Given the description of an element on the screen output the (x, y) to click on. 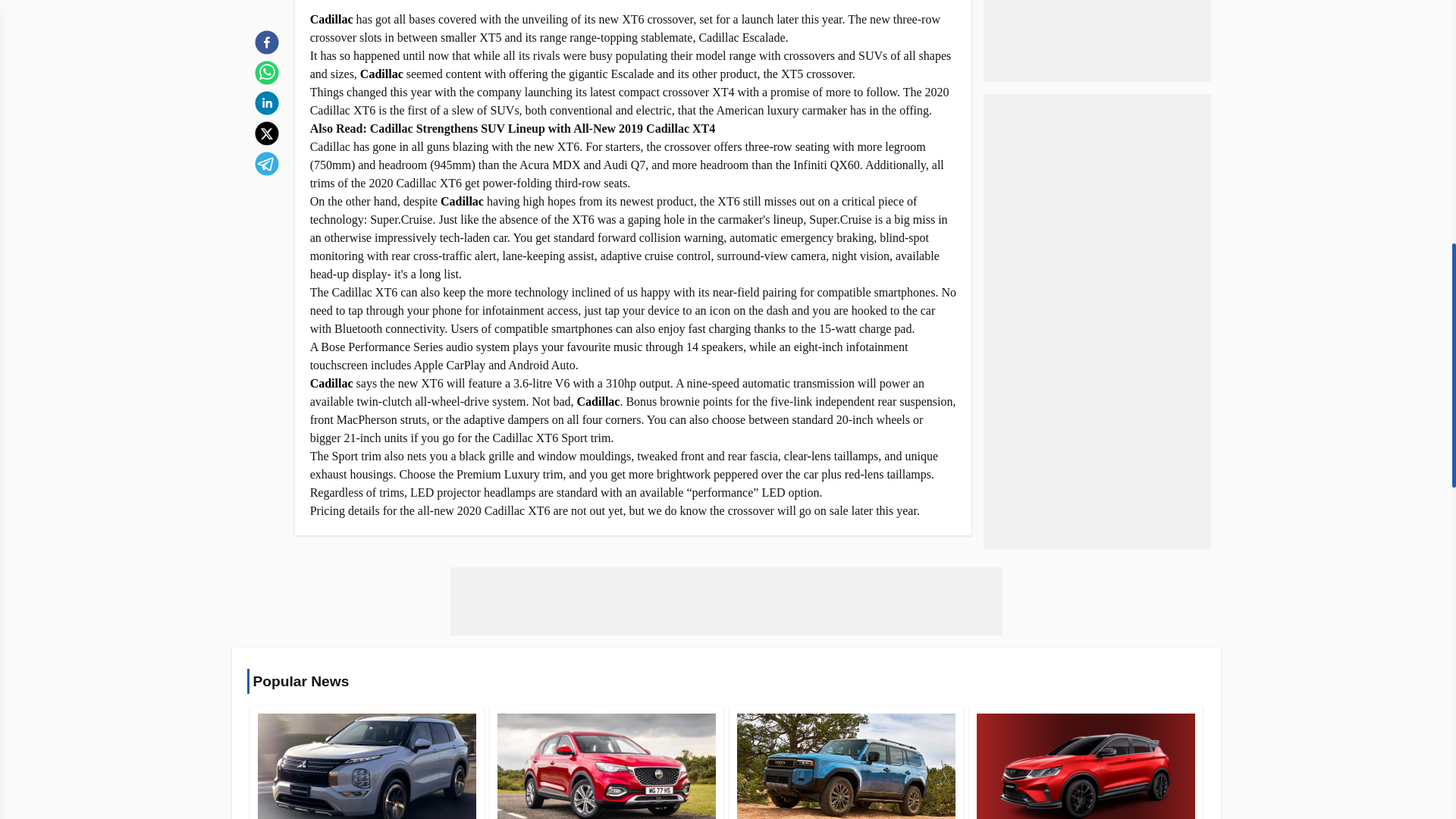
Cadillac (462, 201)
Cadillac (598, 400)
Cadillac (331, 382)
Cadillac (331, 19)
Cadillac (381, 73)
